Given the description of an element on the screen output the (x, y) to click on. 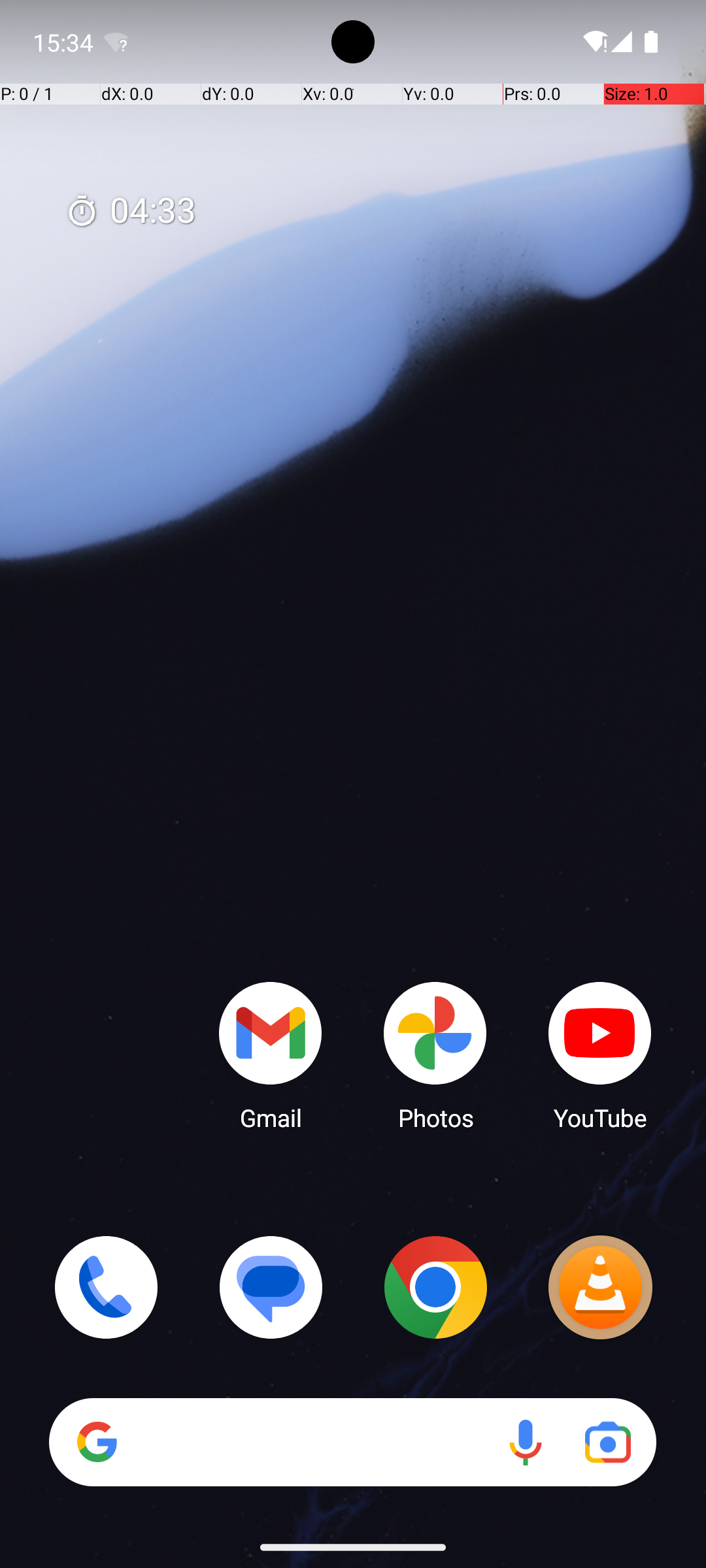
04:33 Element type: android.widget.TextView (130, 210)
